Given the description of an element on the screen output the (x, y) to click on. 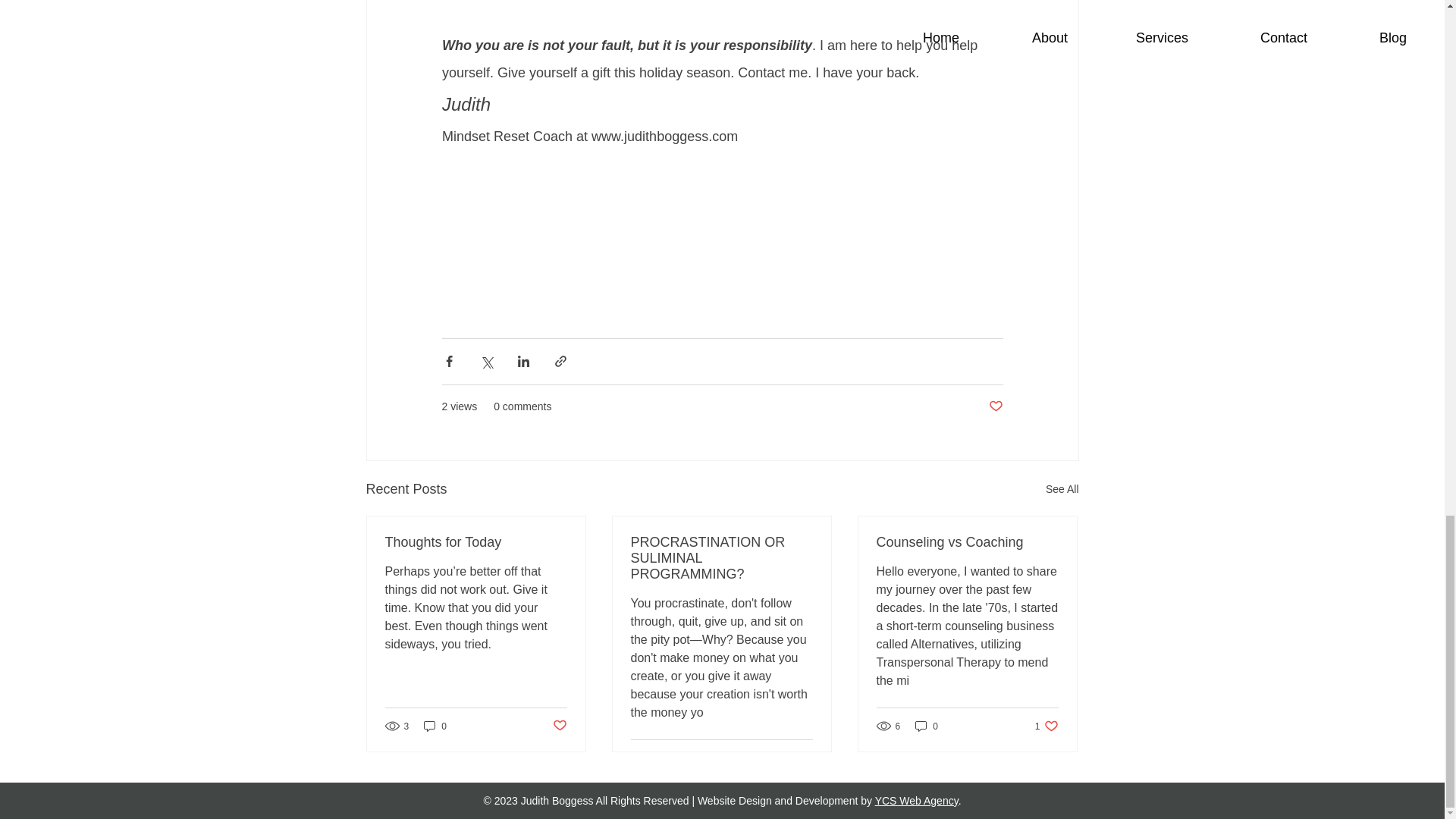
PROCRASTINATION OR SULIMINAL PROGRAMMING? (721, 558)
0 (435, 726)
Post not marked as liked (558, 725)
Post not marked as liked (995, 406)
See All (1061, 489)
Thoughts for Today (476, 542)
0 (1046, 726)
YCS Web Agency (926, 726)
Counseling vs Coaching (916, 800)
Post not marked as liked (967, 542)
